Given the description of an element on the screen output the (x, y) to click on. 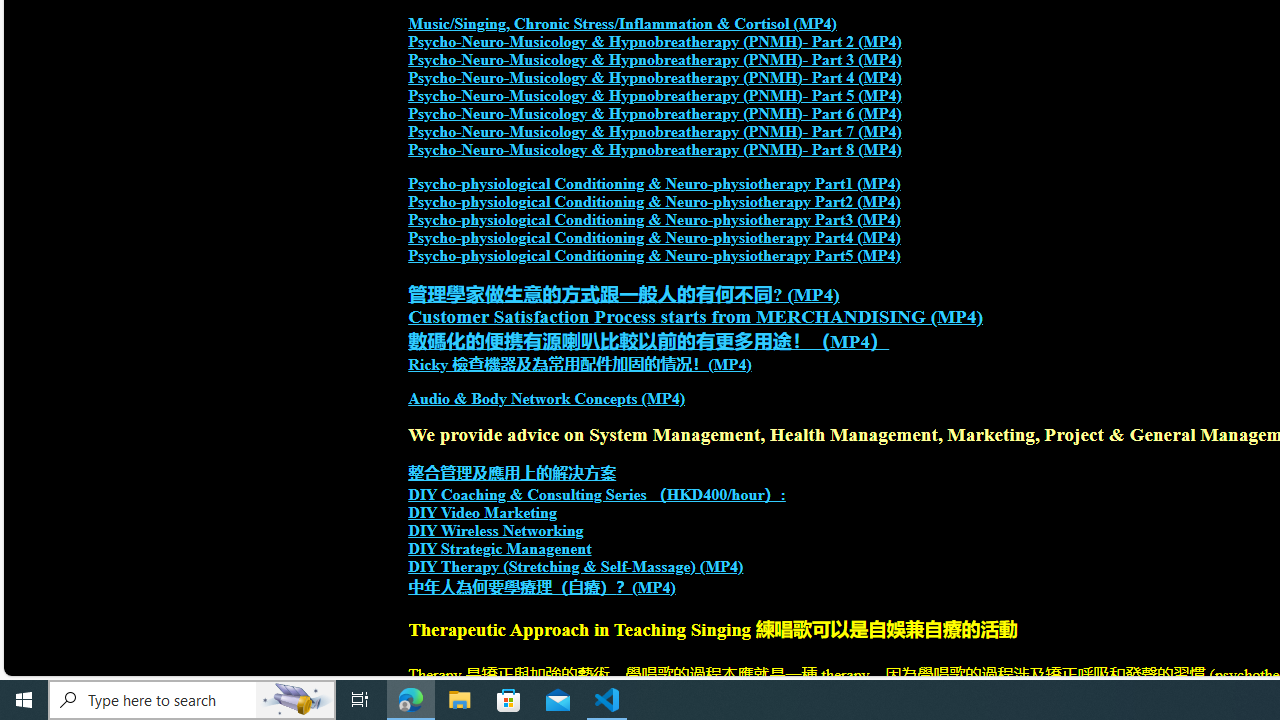
Music/Singing, Chronic Stress/Inflammation & Cortisol (MP4) (622, 24)
